Given the description of an element on the screen output the (x, y) to click on. 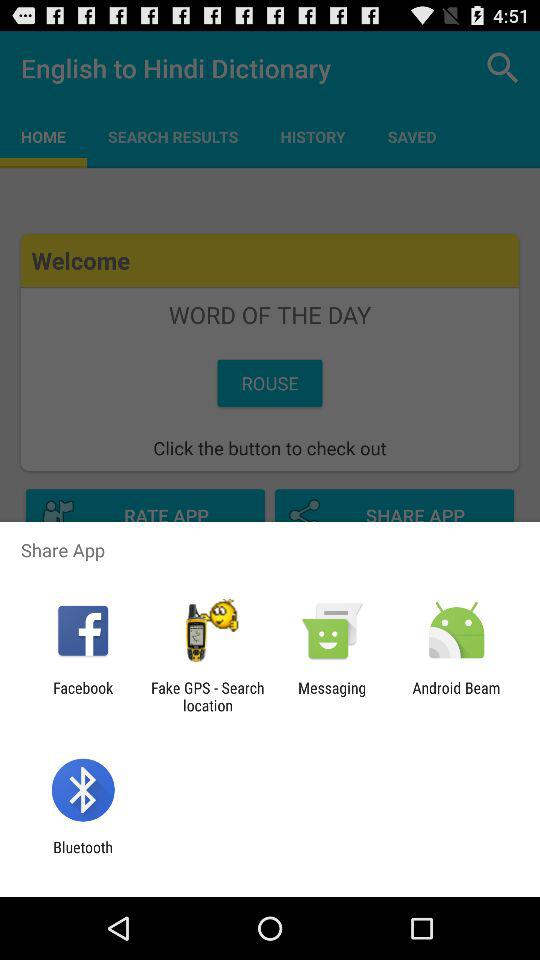
turn on the item next to the messaging item (207, 696)
